Given the description of an element on the screen output the (x, y) to click on. 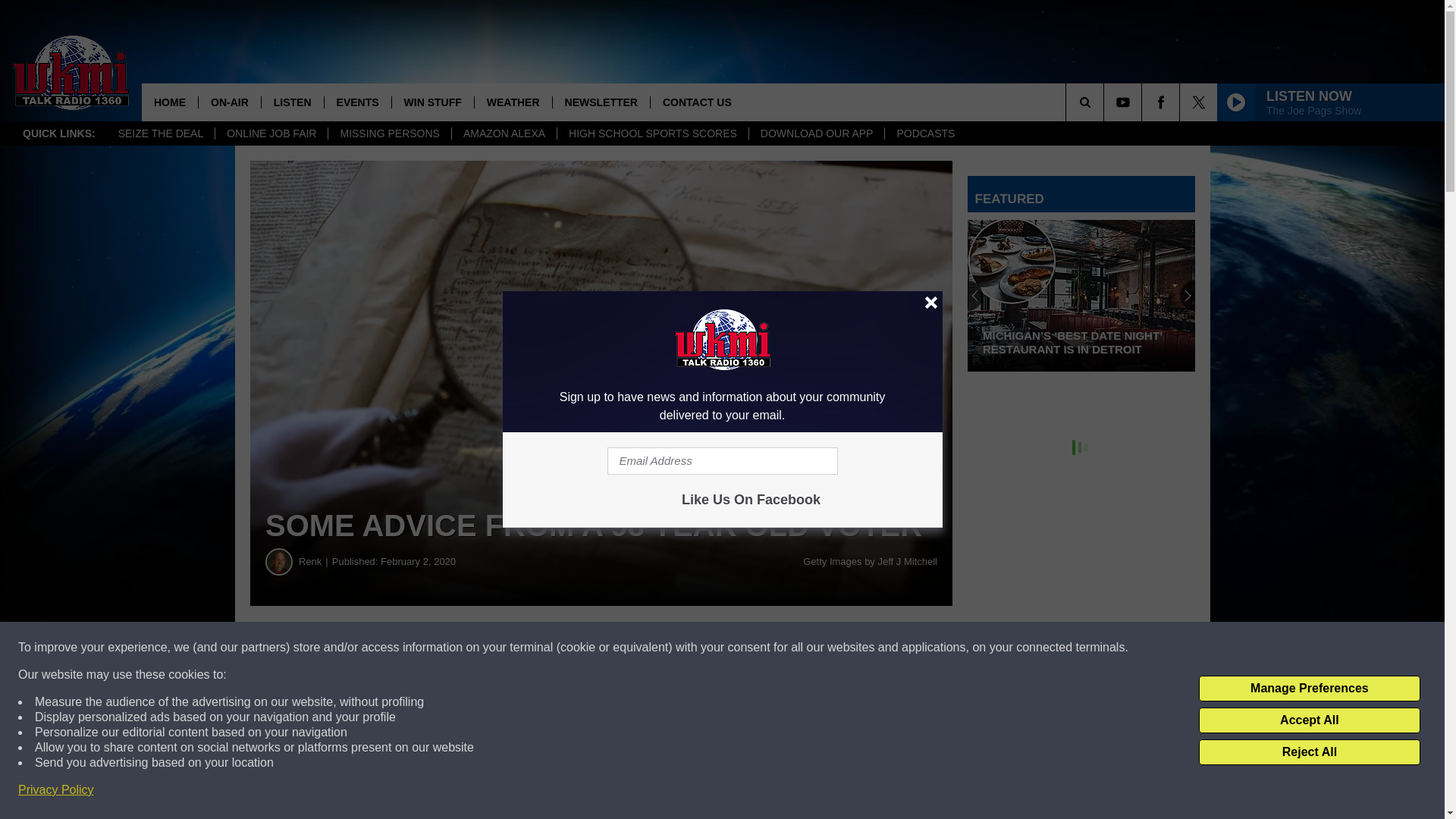
DOWNLOAD OUR APP (816, 133)
HIGH SCHOOL SPORTS SCORES (652, 133)
Accept All (1309, 720)
WIN STUFF (432, 102)
QUICK LINKS: (58, 133)
EVENTS (357, 102)
Share on Twitter (741, 647)
HOME (169, 102)
MISSING PERSONS (388, 133)
Share on Facebook (460, 647)
PODCASTS (924, 133)
AMAZON ALEXA (503, 133)
SEARCH (1106, 102)
Manage Preferences (1309, 688)
SEARCH (1106, 102)
